Given the description of an element on the screen output the (x, y) to click on. 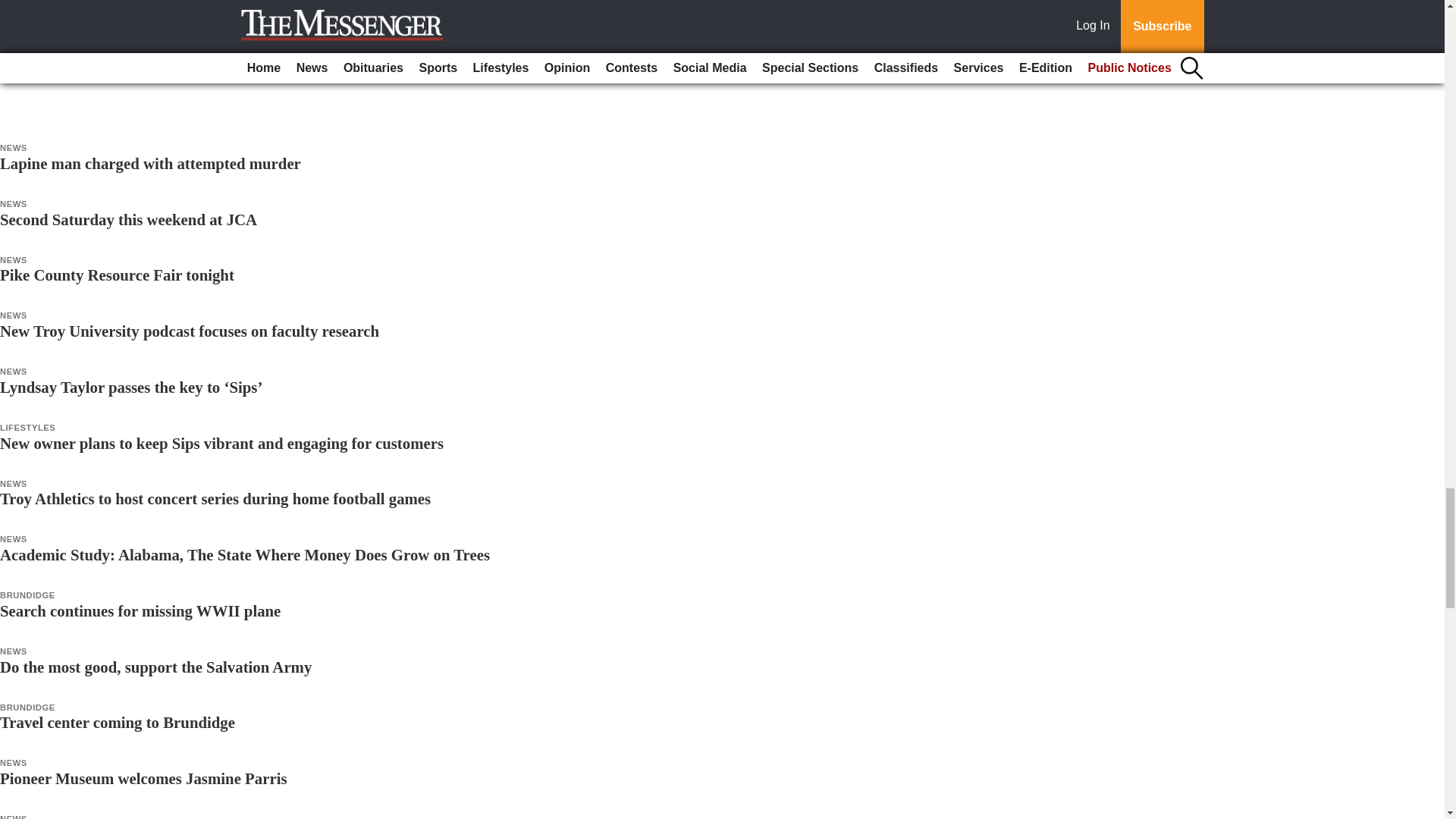
Pike County Resource Fair tonight (117, 274)
Second Saturday this weekend at JCA (128, 219)
Do the most good, support the Salvation Army (155, 666)
Search continues for missing WWII plane (140, 610)
Travel center coming to Brundidge (117, 722)
Pioneer Museum  welcomes Jasmine Parris (143, 778)
New Troy University podcast focuses on faculty research (189, 330)
Lapine man charged with attempted murder (150, 162)
